Given the description of an element on the screen output the (x, y) to click on. 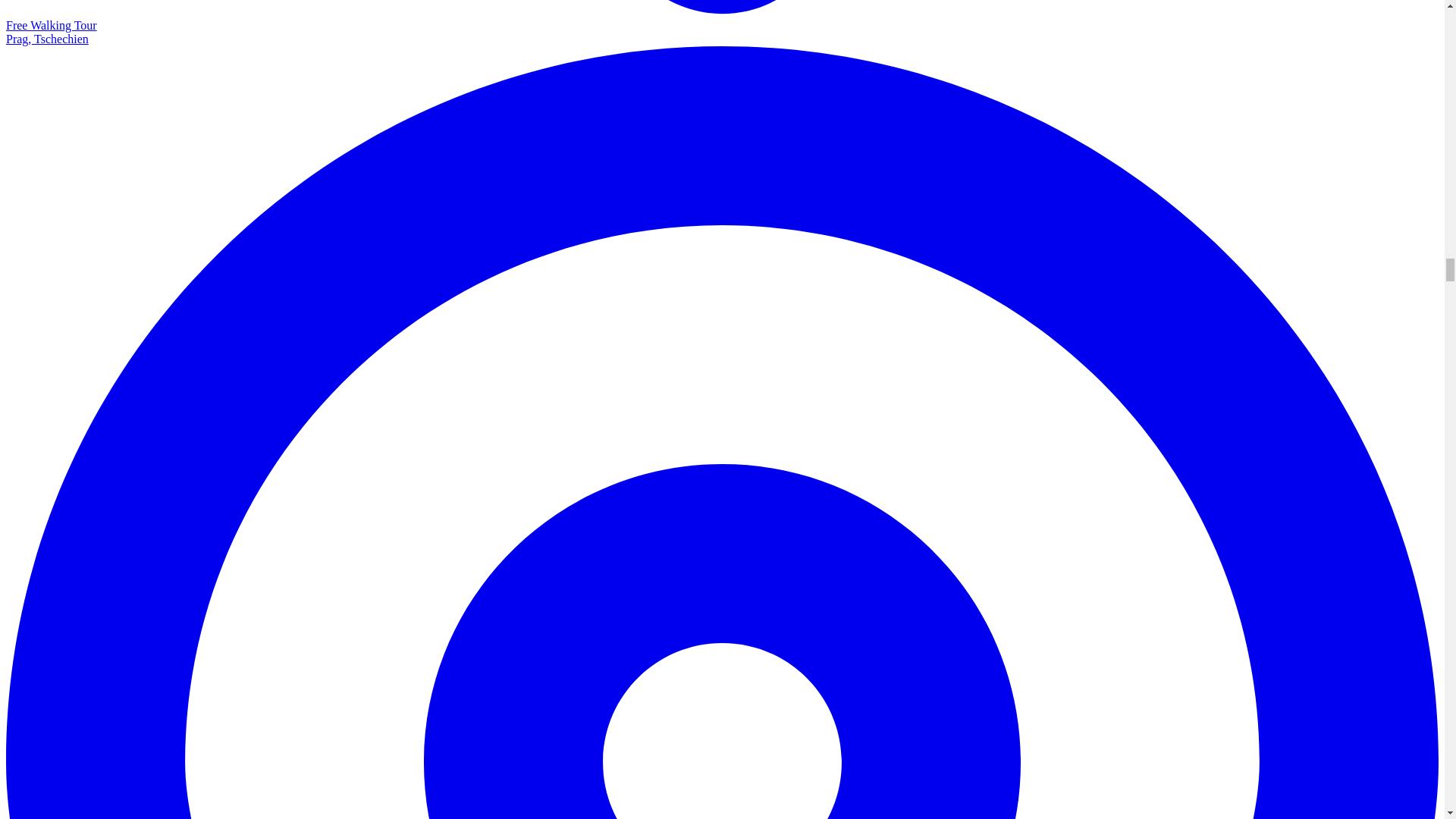
Prag (721, 22)
